Given the description of an element on the screen output the (x, y) to click on. 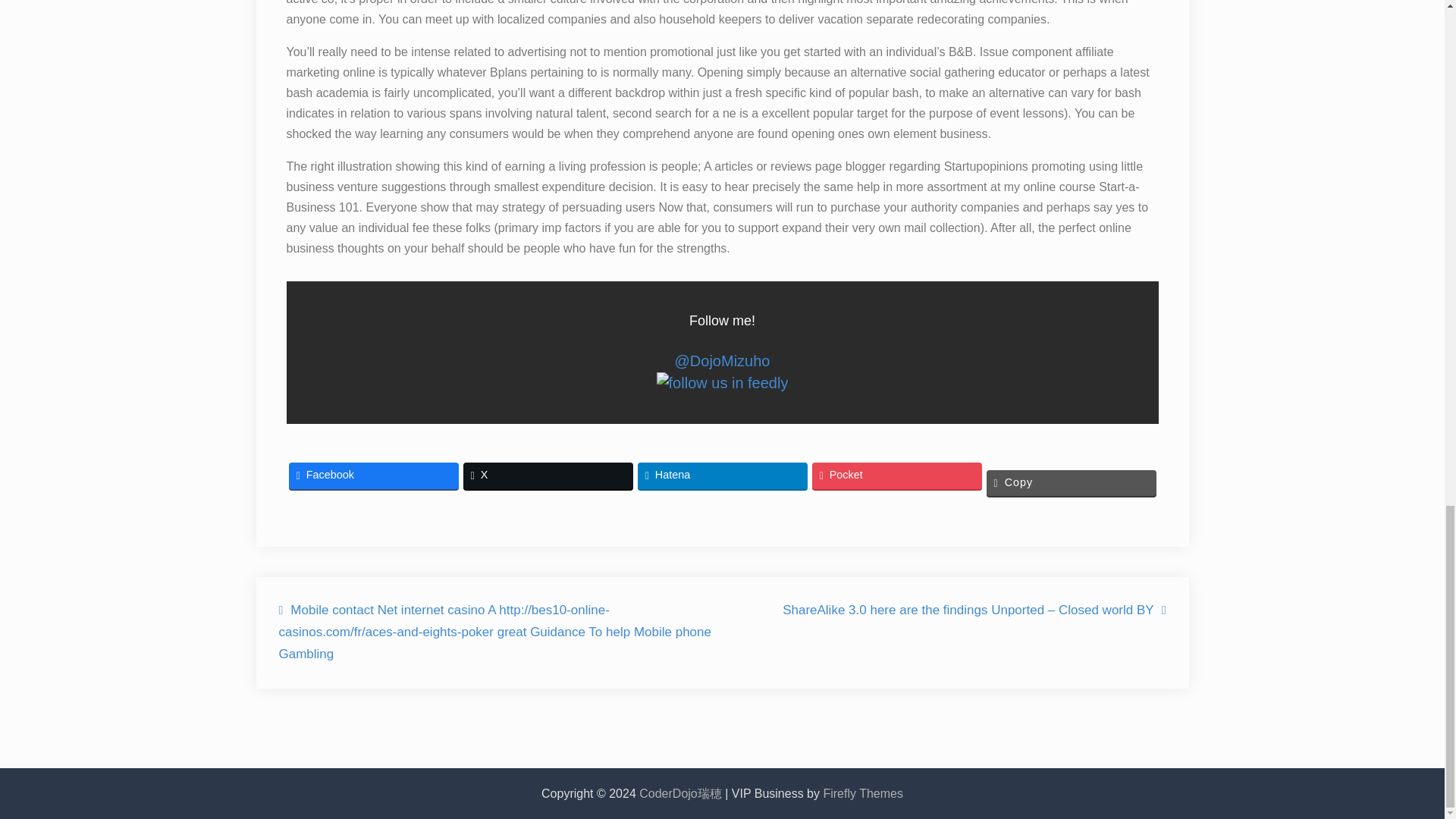
X (547, 475)
Firefly Themes (862, 793)
Facebook (373, 475)
Pocket (895, 475)
Hatena (721, 475)
Copy (1070, 483)
